Given the description of an element on the screen output the (x, y) to click on. 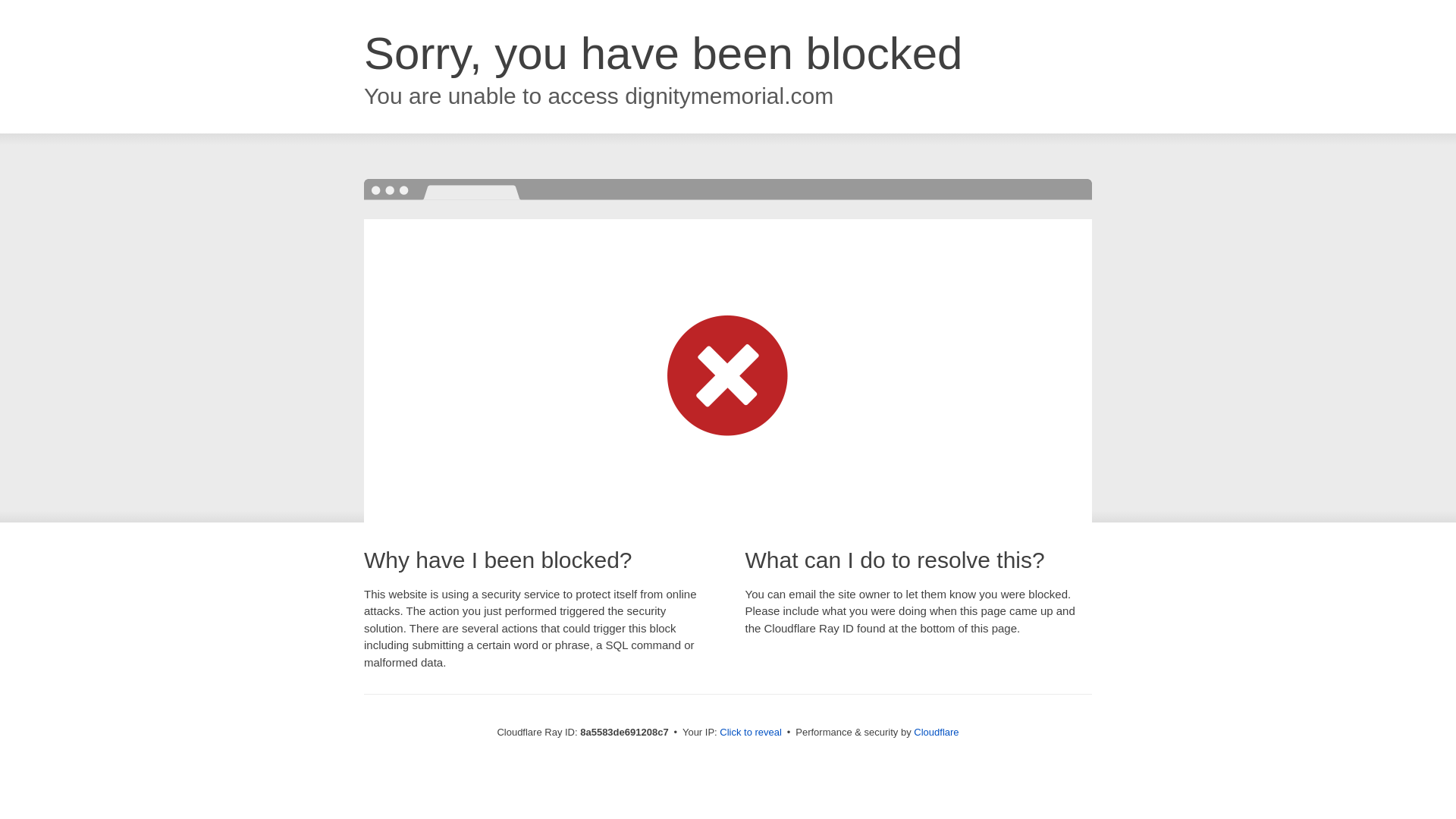
Cloudflare (936, 731)
Click to reveal (750, 732)
